Given the description of an element on the screen output the (x, y) to click on. 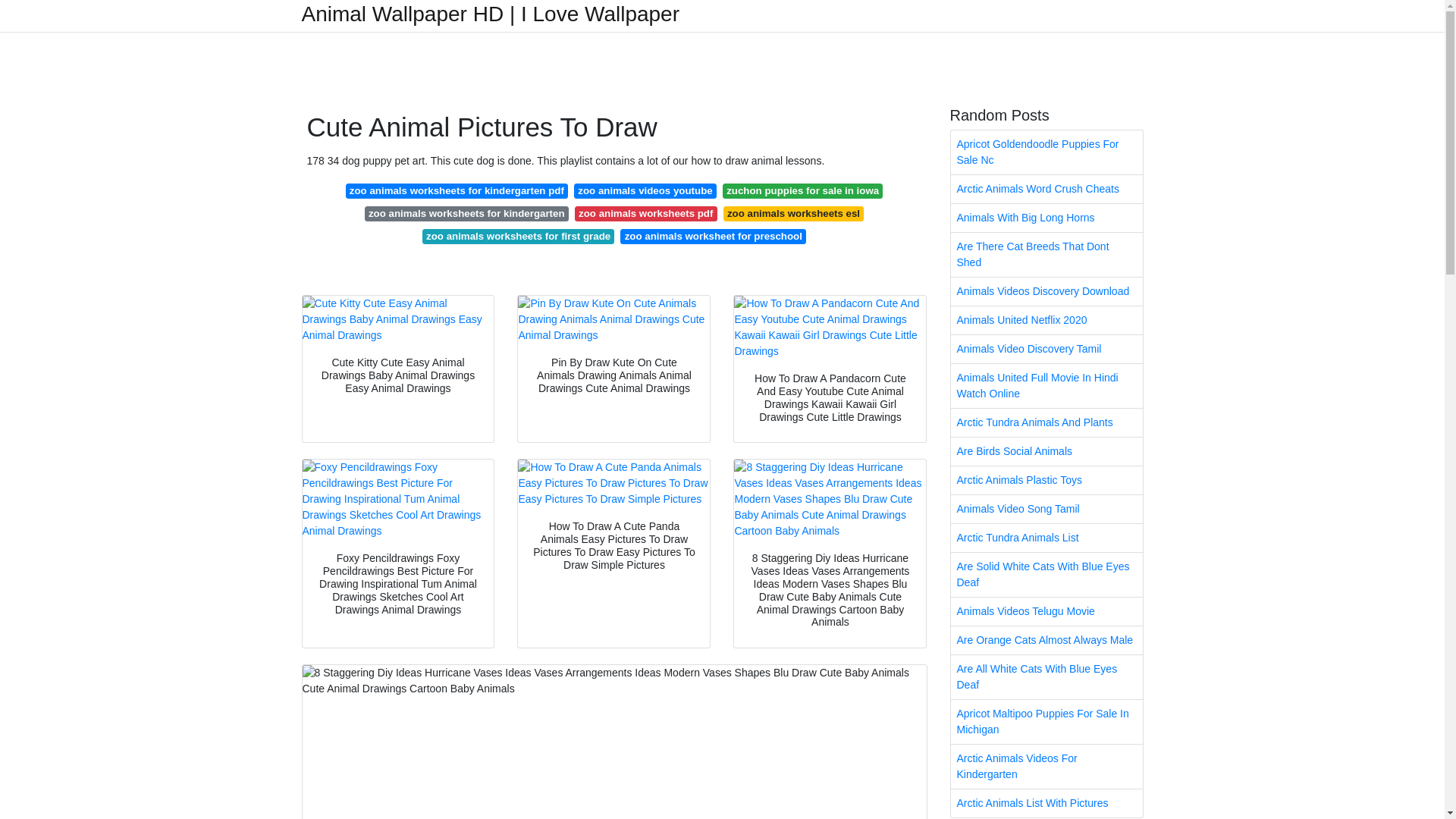
zoo animals worksheets for kindergarten (467, 213)
zoo animals worksheets for first grade (518, 236)
zoo animals worksheet for preschool (713, 236)
zuchon puppies for sale in iowa (802, 191)
Animals United Netflix 2020 (1046, 320)
zoo animals worksheets esl (793, 213)
Arctic Tundra Animals And Plants (1046, 422)
Animals Videos Discovery Download (1046, 291)
Animals Video Discovery Tamil (1046, 348)
Are There Cat Breeds That Dont Shed (1046, 254)
